Given the description of an element on the screen output the (x, y) to click on. 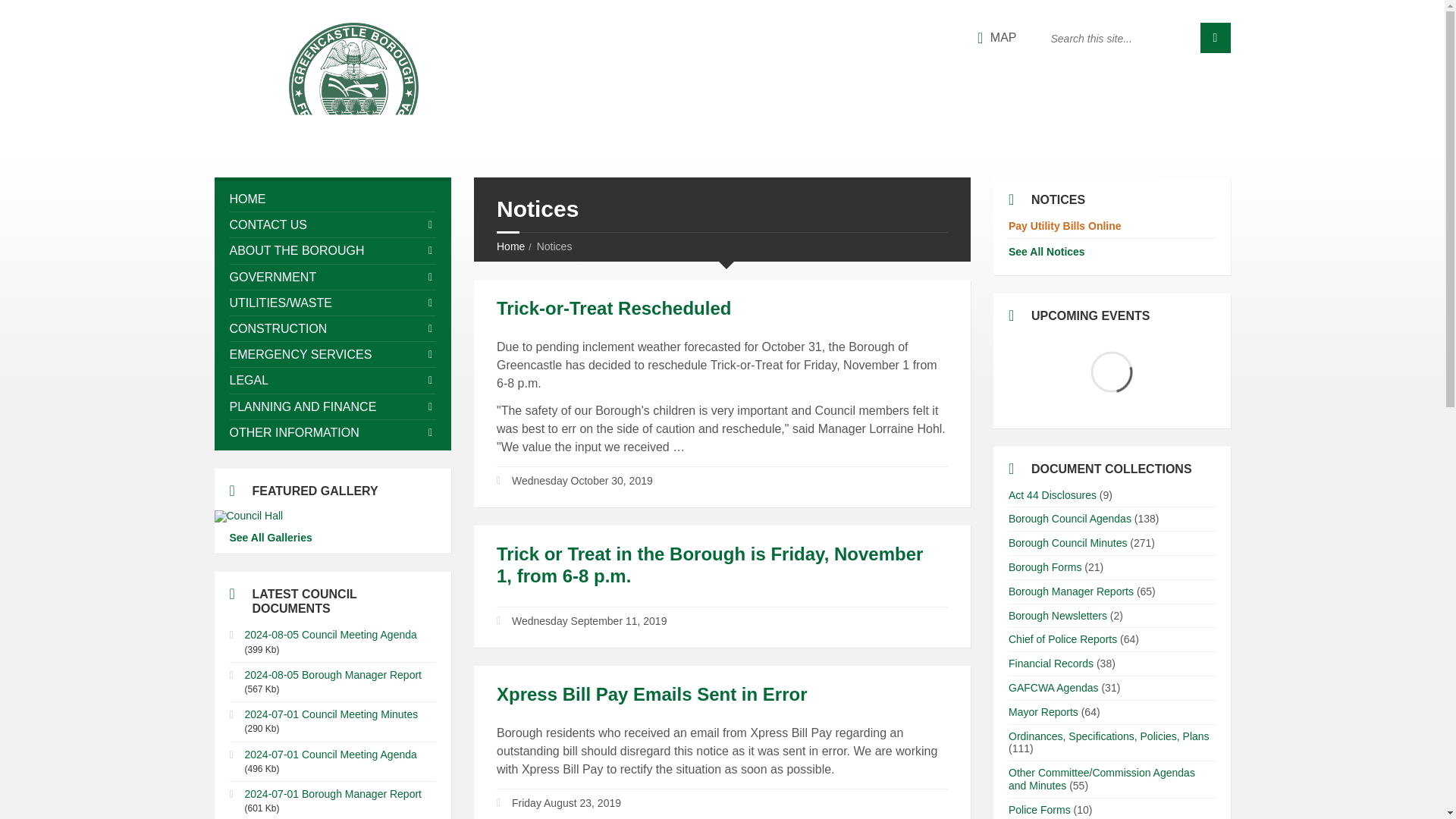
Show on Map (996, 37)
Borough and Council Gallery (332, 516)
MAP (996, 37)
